Given the description of an element on the screen output the (x, y) to click on. 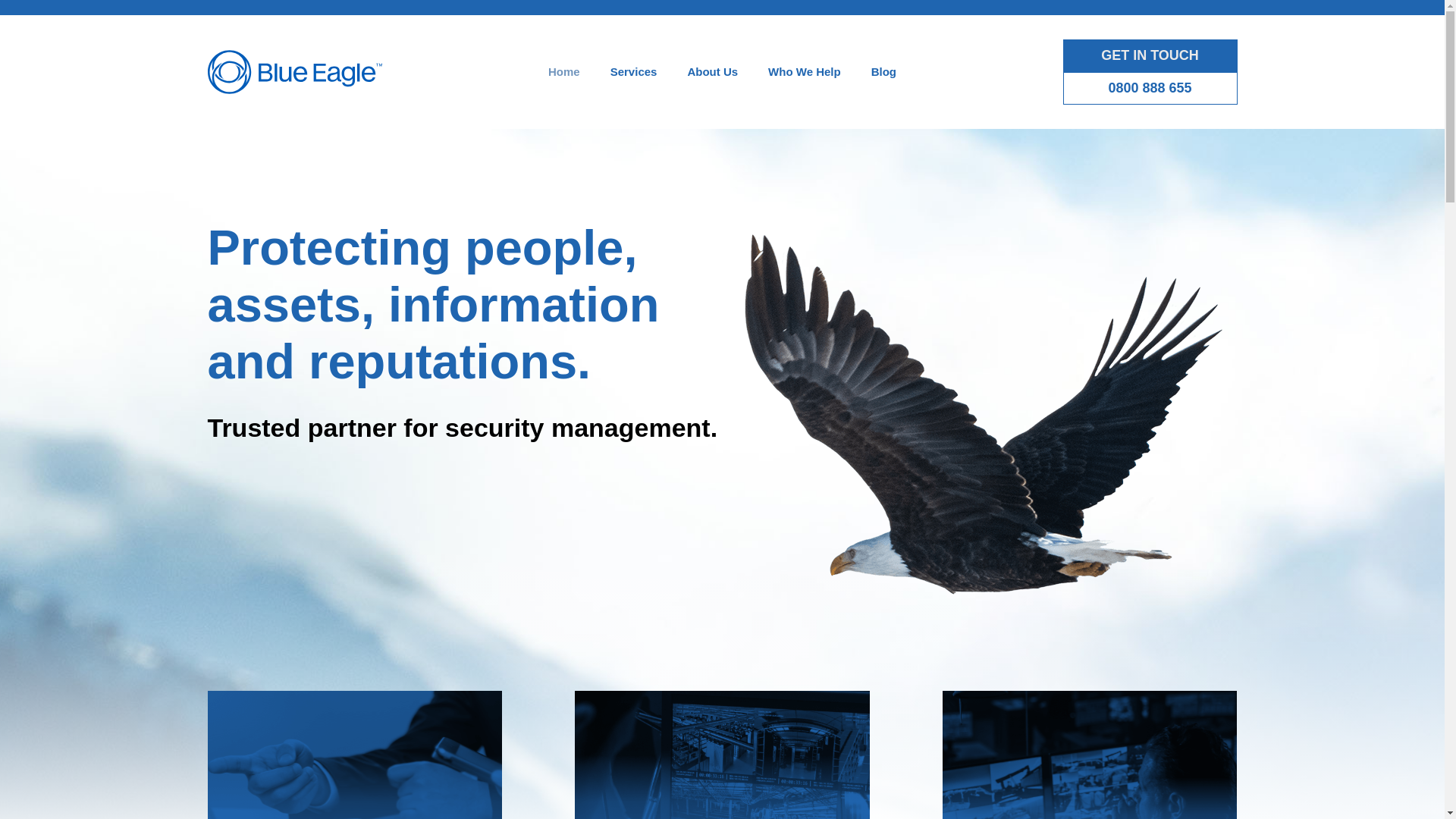
Who We Help (804, 71)
Advisory and Management Services (355, 755)
About Us (711, 71)
0800 888 655 (1149, 88)
Monitoring (1089, 755)
Services (633, 71)
Protective Services and Investigations (722, 755)
GET IN TOUCH (1149, 55)
Home (563, 71)
Blog (883, 71)
